Given the description of an element on the screen output the (x, y) to click on. 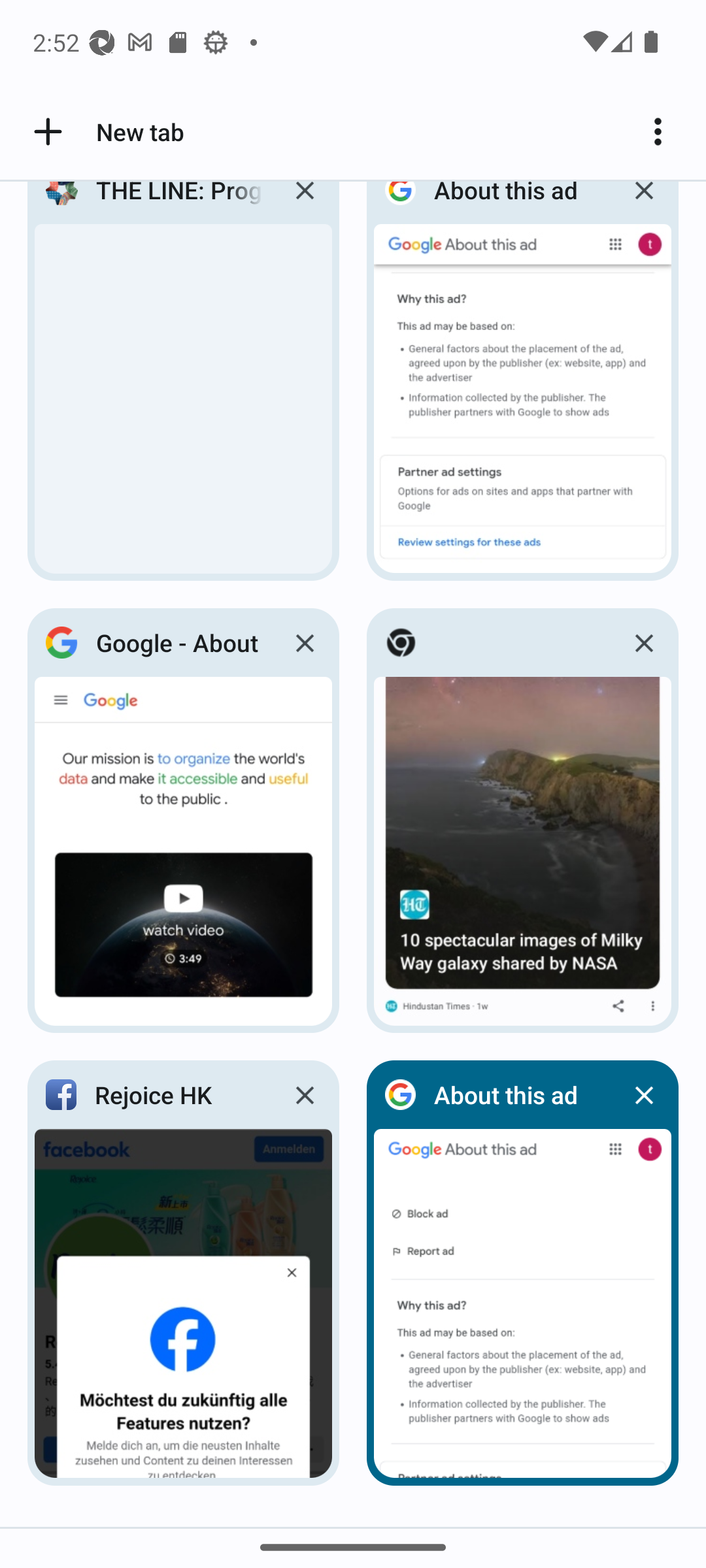
New tab (105, 131)
More options (664, 131)
Close About this ad tab (643, 206)
, tab Close  tab (522, 820)
Close Google - About tab (304, 642)
Close  tab (643, 642)
Rejoice HK Rejoice HK, tab Close Rejoice HK tab (183, 1273)
Close Rejoice HK tab (304, 1094)
Close About this ad tab (643, 1094)
